Given the description of an element on the screen output the (x, y) to click on. 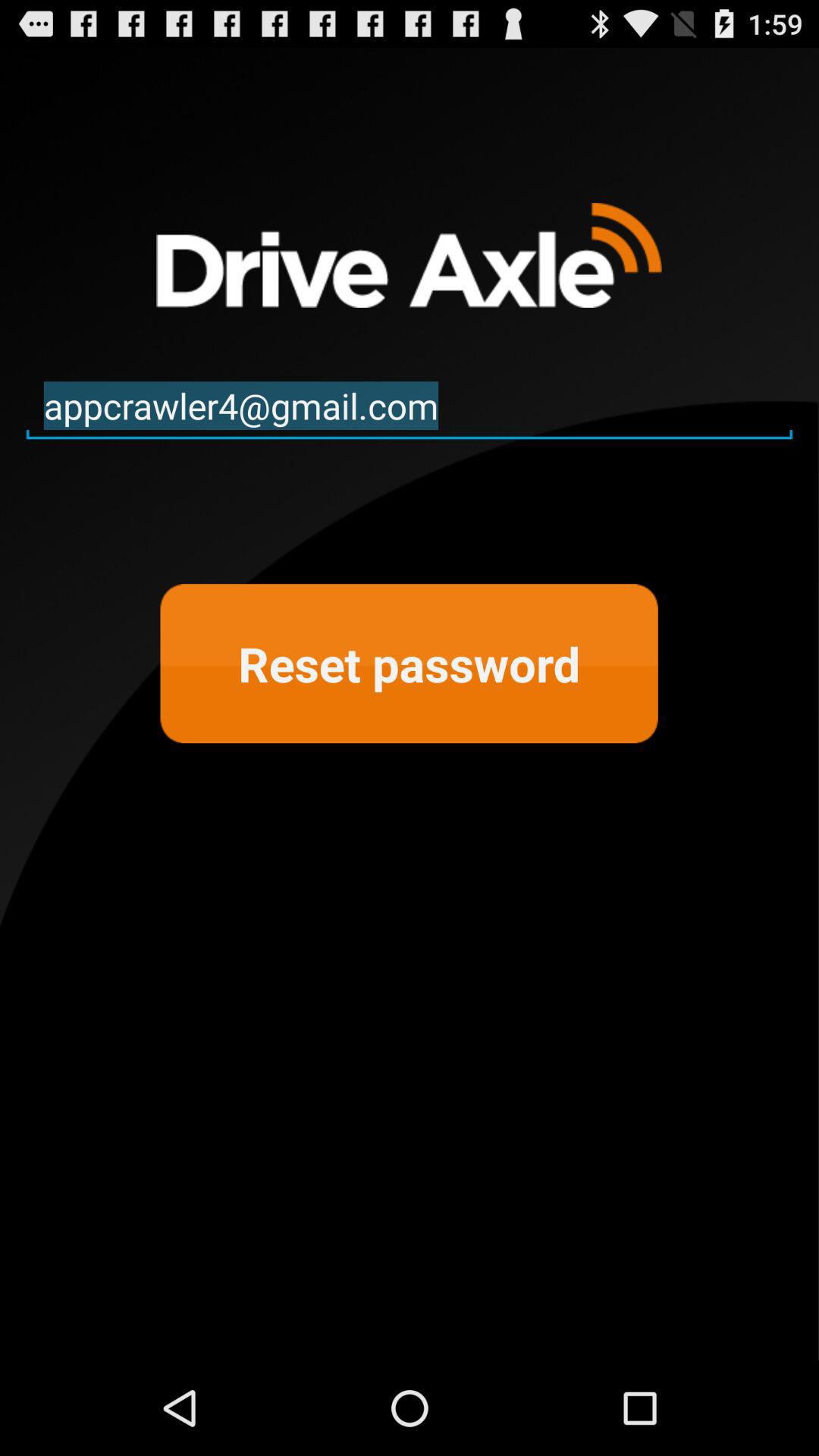
choose icon above reset password button (409, 406)
